Given the description of an element on the screen output the (x, y) to click on. 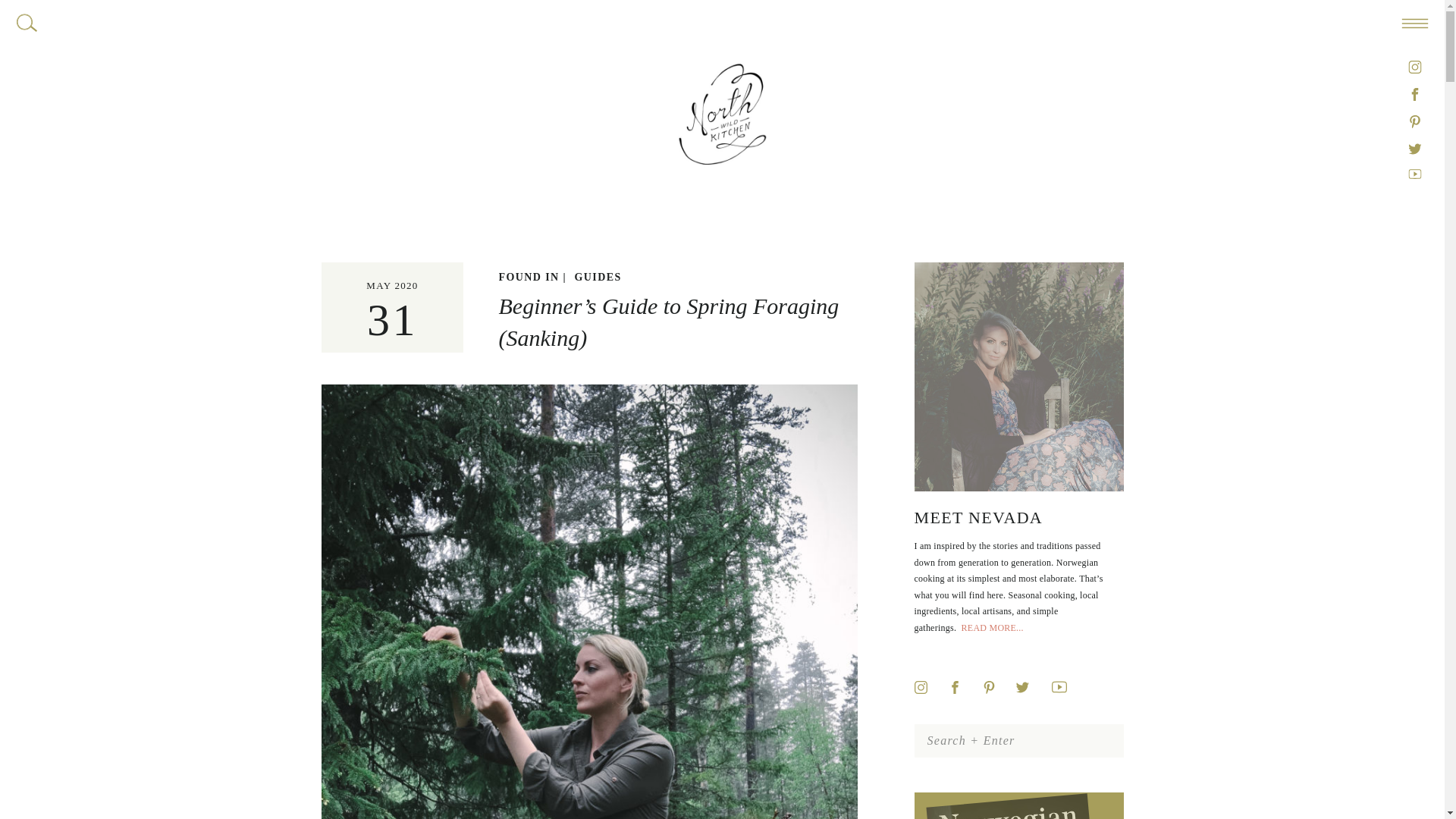
READ MORE... (991, 627)
GUIDES (598, 276)
NORTH WILD KITCHEN (721, 22)
